Given the description of an element on the screen output the (x, y) to click on. 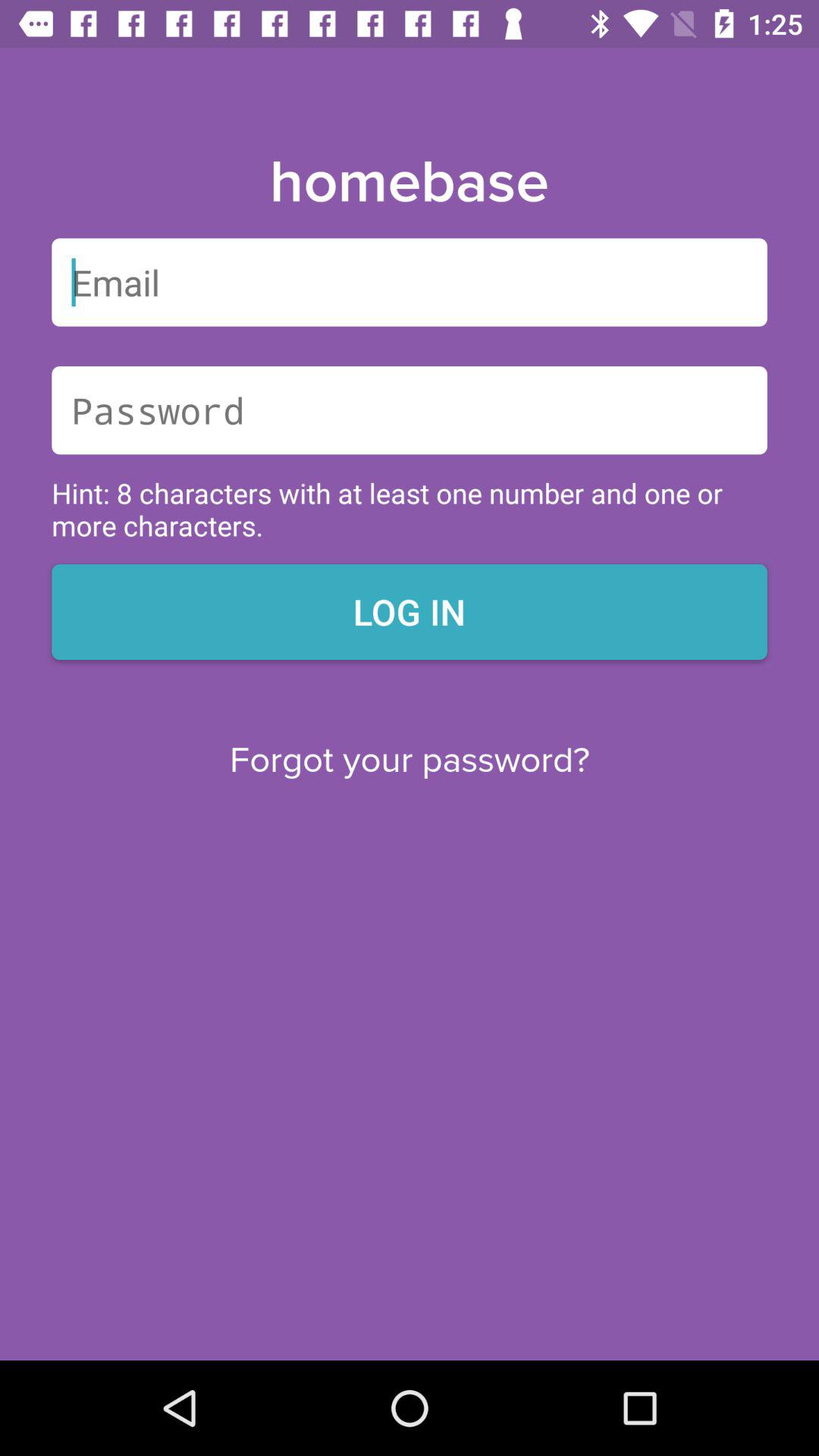
turn off the icon below log in (409, 760)
